Given the description of an element on the screen output the (x, y) to click on. 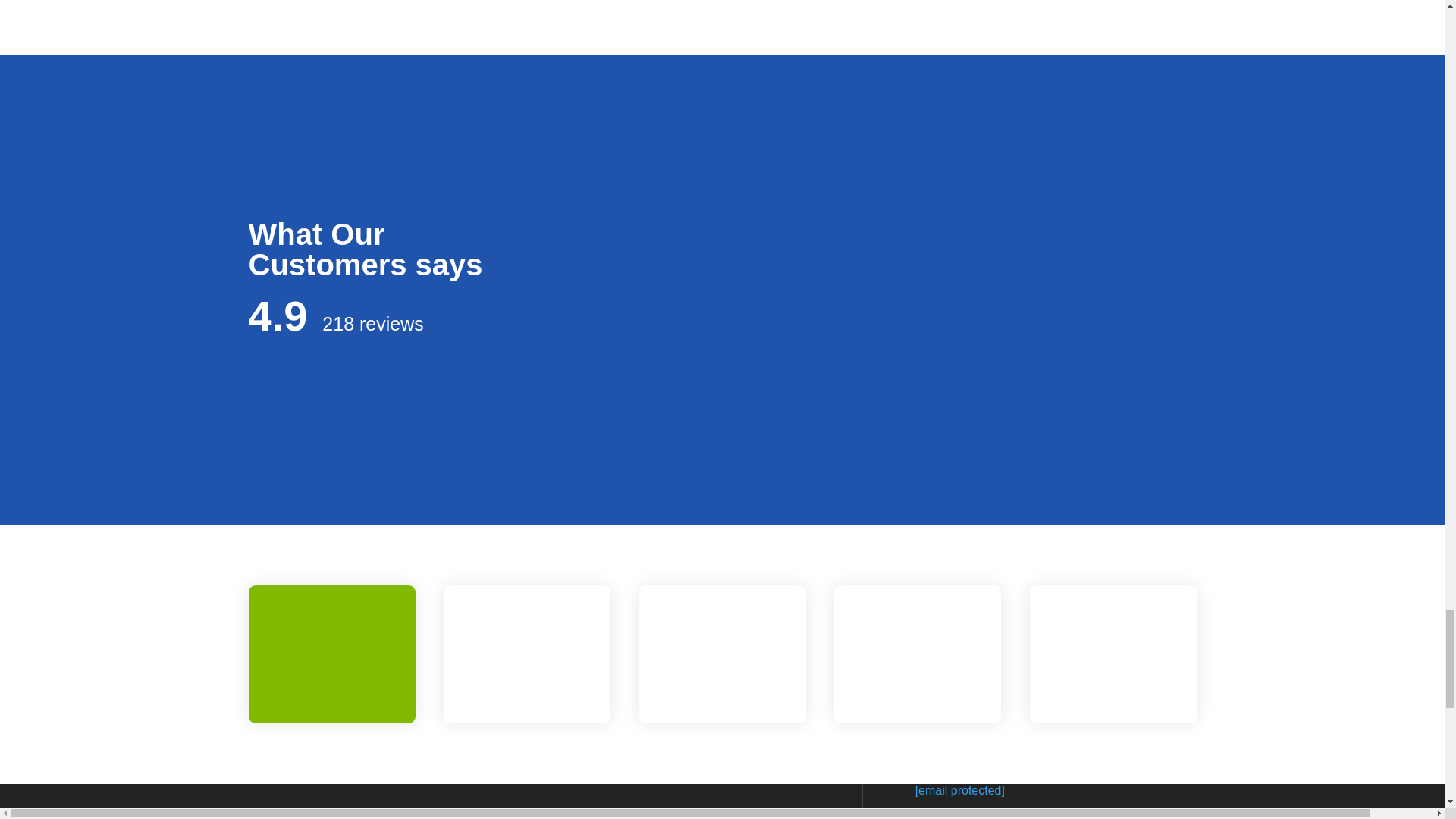
client-logo-1 (331, 652)
client-logo-2 (526, 652)
client-logo-3 (722, 652)
